Given the description of an element on the screen output the (x, y) to click on. 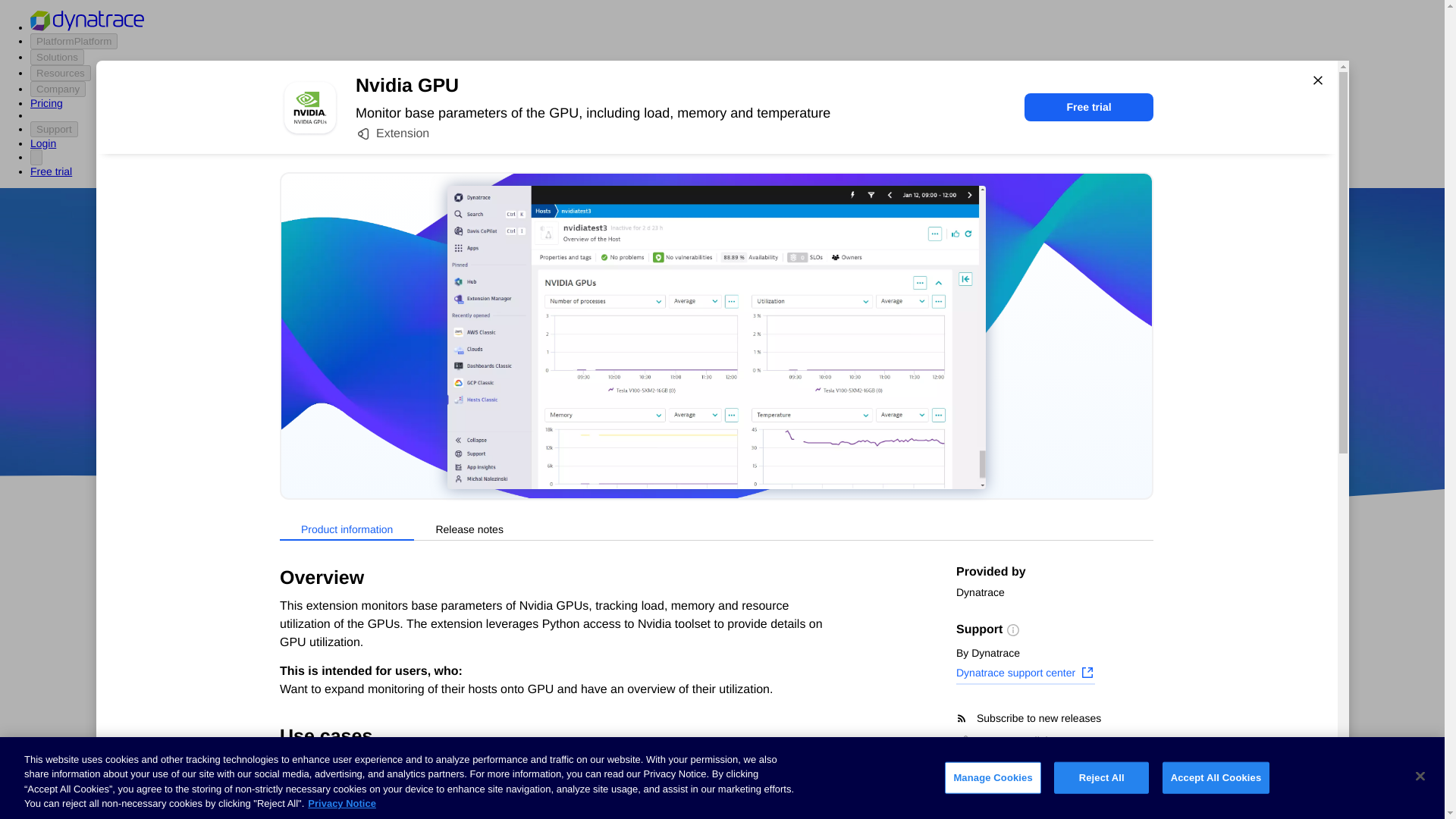
Hub home (291, 583)
Wipro (840, 375)
Azure (681, 418)
Kubernetes (295, 755)
Dynatrace support center (1025, 674)
Wipro (840, 375)
Infrastructure Observability (335, 809)
AWS (637, 418)
Copy page link (1003, 740)
Build your own app (314, 669)
Google Cloud (751, 418)
Log Management and Analytics (345, 727)
WIPRO Holmes (606, 723)
Open source (903, 418)
Free trial (1089, 107)
